Given the description of an element on the screen output the (x, y) to click on. 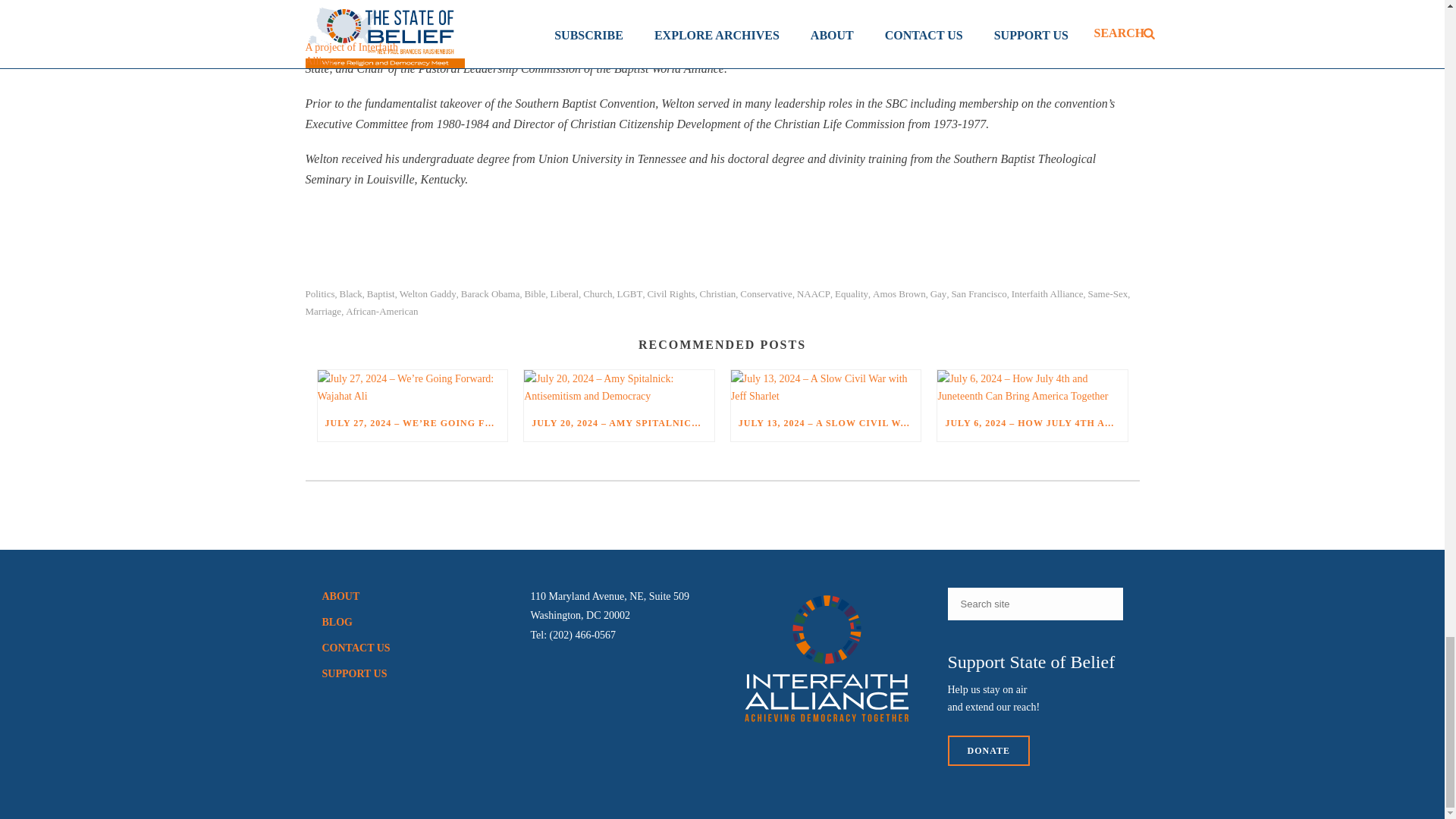
DONATE (988, 750)
